Given the description of an element on the screen output the (x, y) to click on. 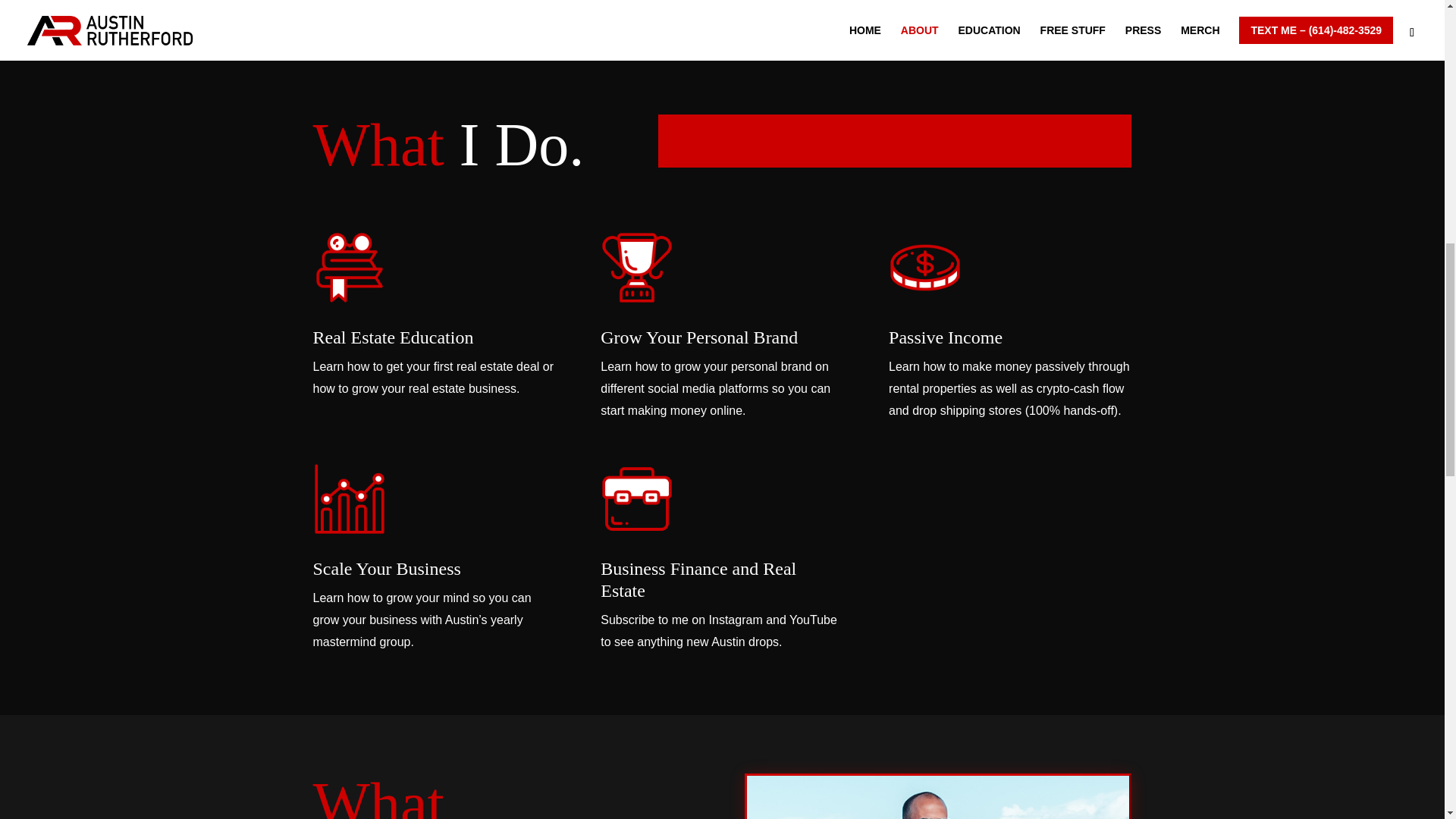
TikTok (369, 22)
YT (407, 22)
QuestionIMG (937, 797)
Instagram (331, 22)
AustinCutout (926, 26)
